Given the description of an element on the screen output the (x, y) to click on. 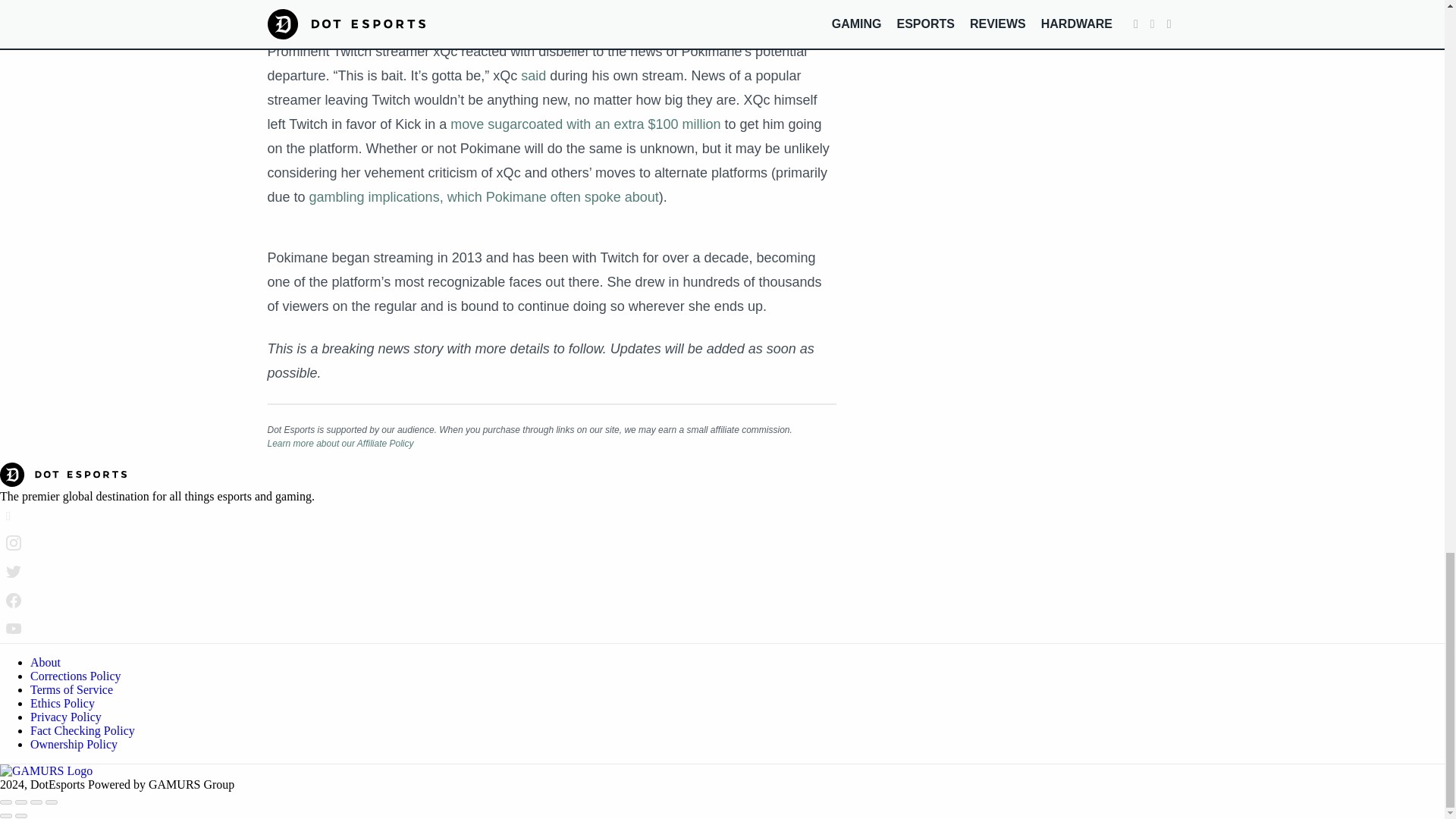
Toggle fullscreen (36, 802)
Share (20, 802)
